Given the description of an element on the screen output the (x, y) to click on. 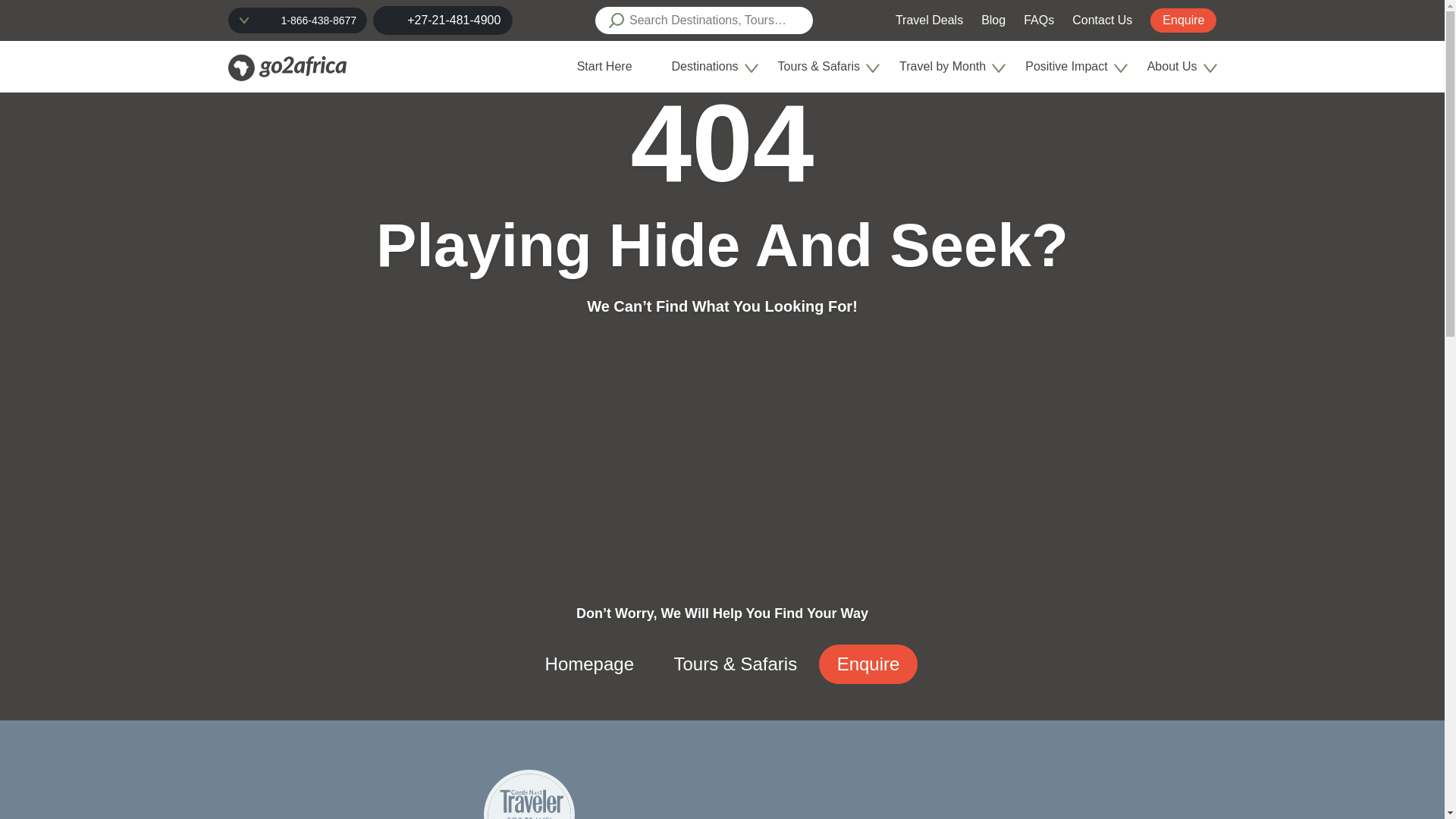
Start Here (610, 66)
FAQs (1038, 20)
Destinations (710, 66)
Start Here (603, 65)
Destinations (704, 65)
1-866-438-8677 (296, 20)
Blog (993, 20)
Travel Deals (928, 20)
1-866-438-8677 (318, 20)
Contact Us (1101, 20)
